Given the description of an element on the screen output the (x, y) to click on. 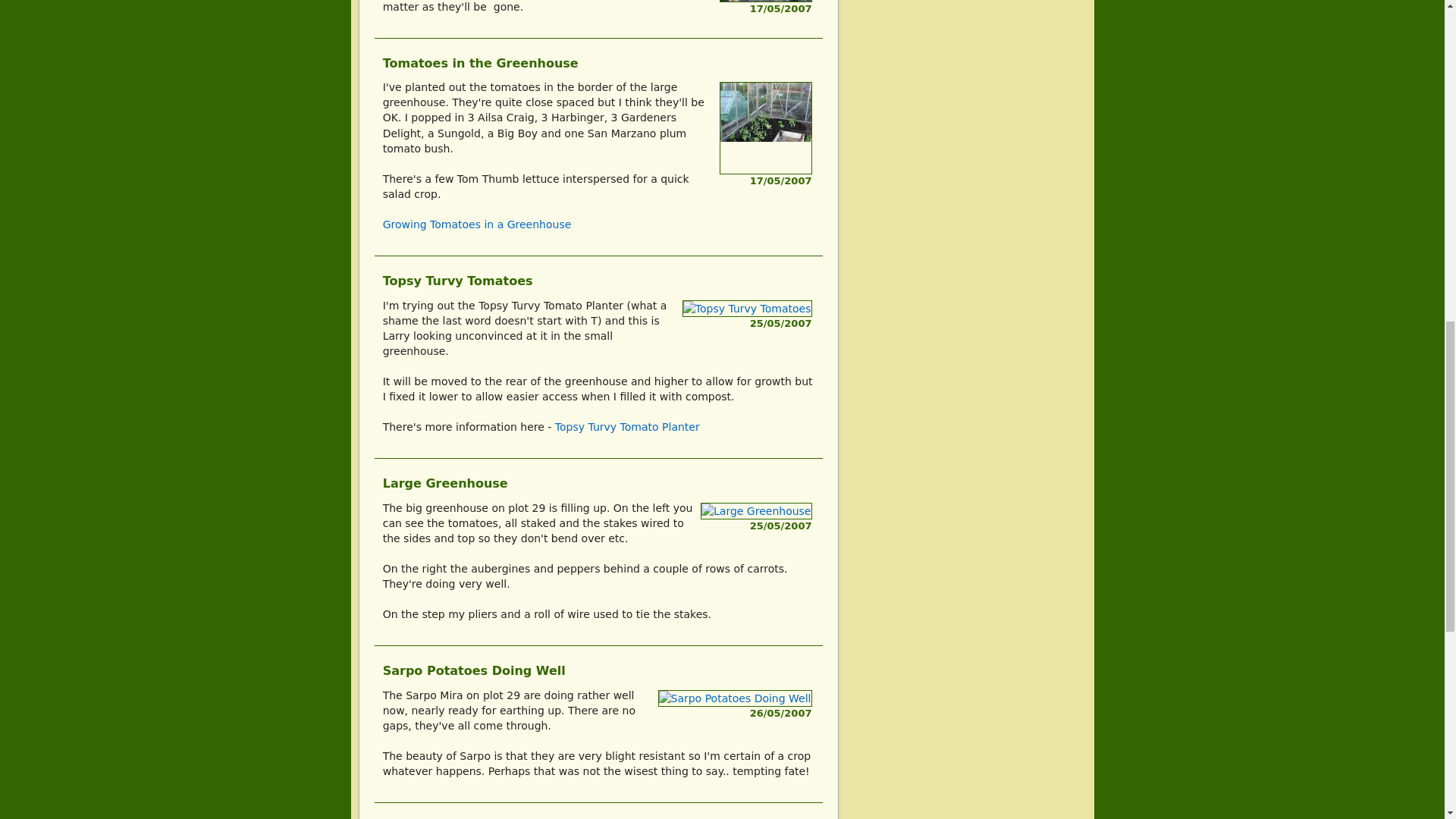
Topsy Turvy Tomatoes (747, 308)
Topsy Turvy Tomato Planter (627, 426)
Carrots in the Greenhouse (764, 1)
Sarpo Potatoes Doing Well (735, 698)
Large Greenhouse (755, 510)
Topsy Turvy Tomato Planter (627, 426)
Tomatoes in the Greenhouse (764, 127)
Growing Tomatoes in a Greenhouse (477, 224)
